Given the description of an element on the screen output the (x, y) to click on. 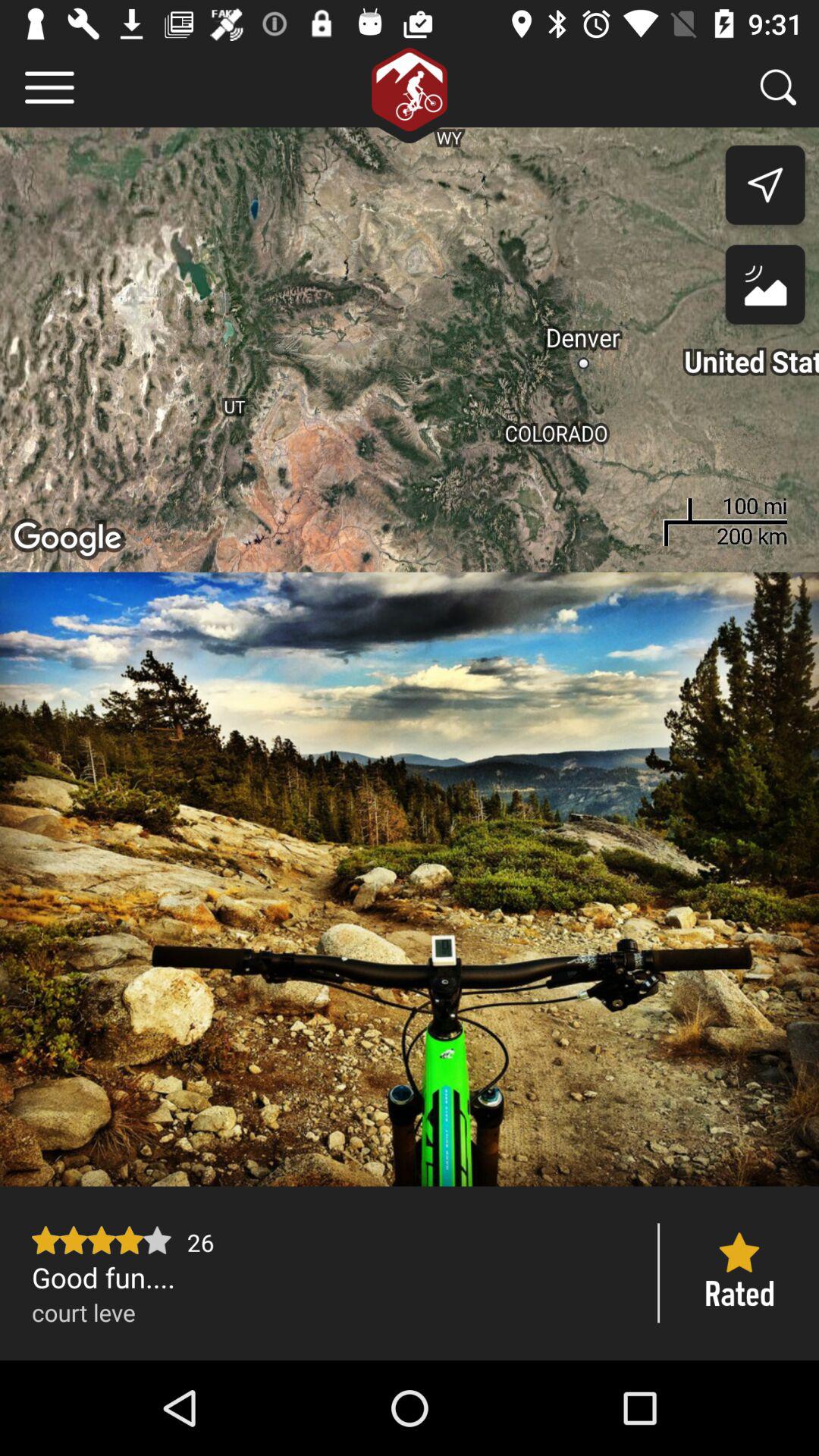
weather information (765, 288)
